Given the description of an element on the screen output the (x, y) to click on. 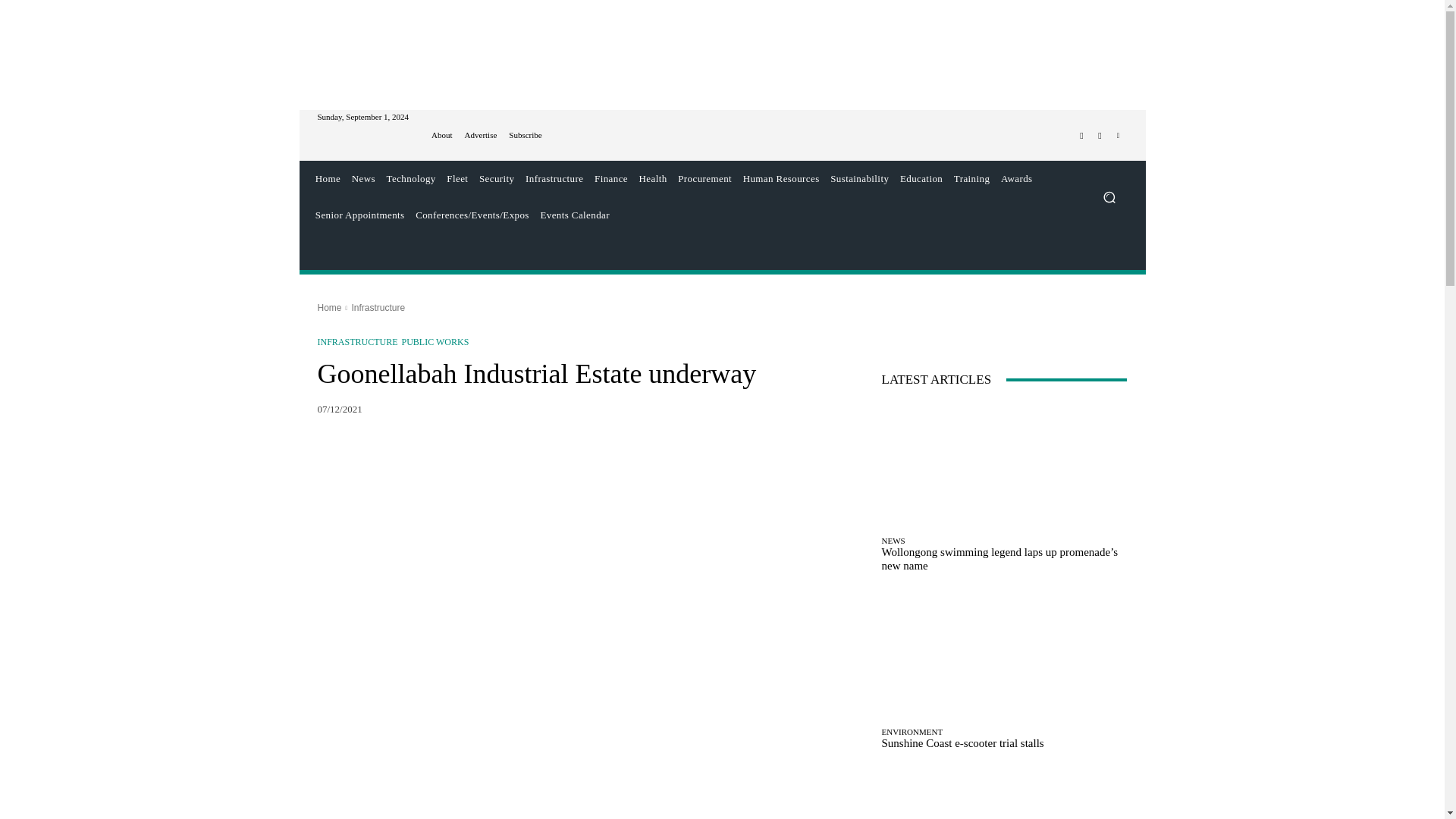
Subscribe (524, 135)
News (363, 178)
Twitter (1099, 135)
Linkedin (1117, 135)
Facebook (1080, 135)
Advertise (480, 135)
About (441, 135)
View all posts in Infrastructure (377, 307)
Home (327, 178)
